Given the description of an element on the screen output the (x, y) to click on. 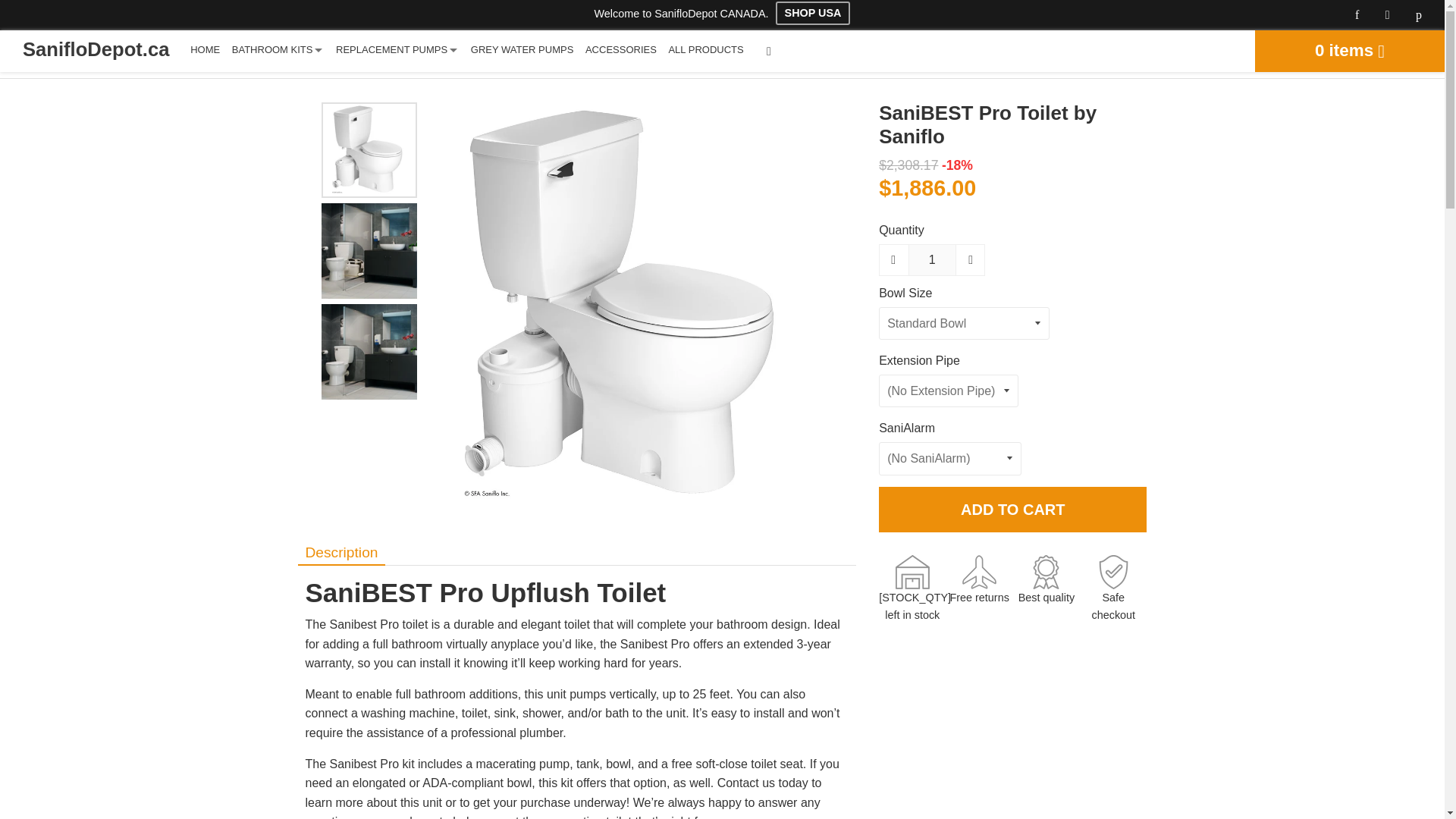
GREY WATER PUMPS (521, 48)
ALL PRODUCTS (705, 48)
1 (932, 259)
Search (768, 51)
SanifloDepot.ca (95, 48)
REPLACEMENT PUMPS (397, 48)
Back to the home page (40, 59)
ACCESSORIES (620, 48)
BATHROOM KITS (277, 48)
SHOP USA (813, 12)
